Given the description of an element on the screen output the (x, y) to click on. 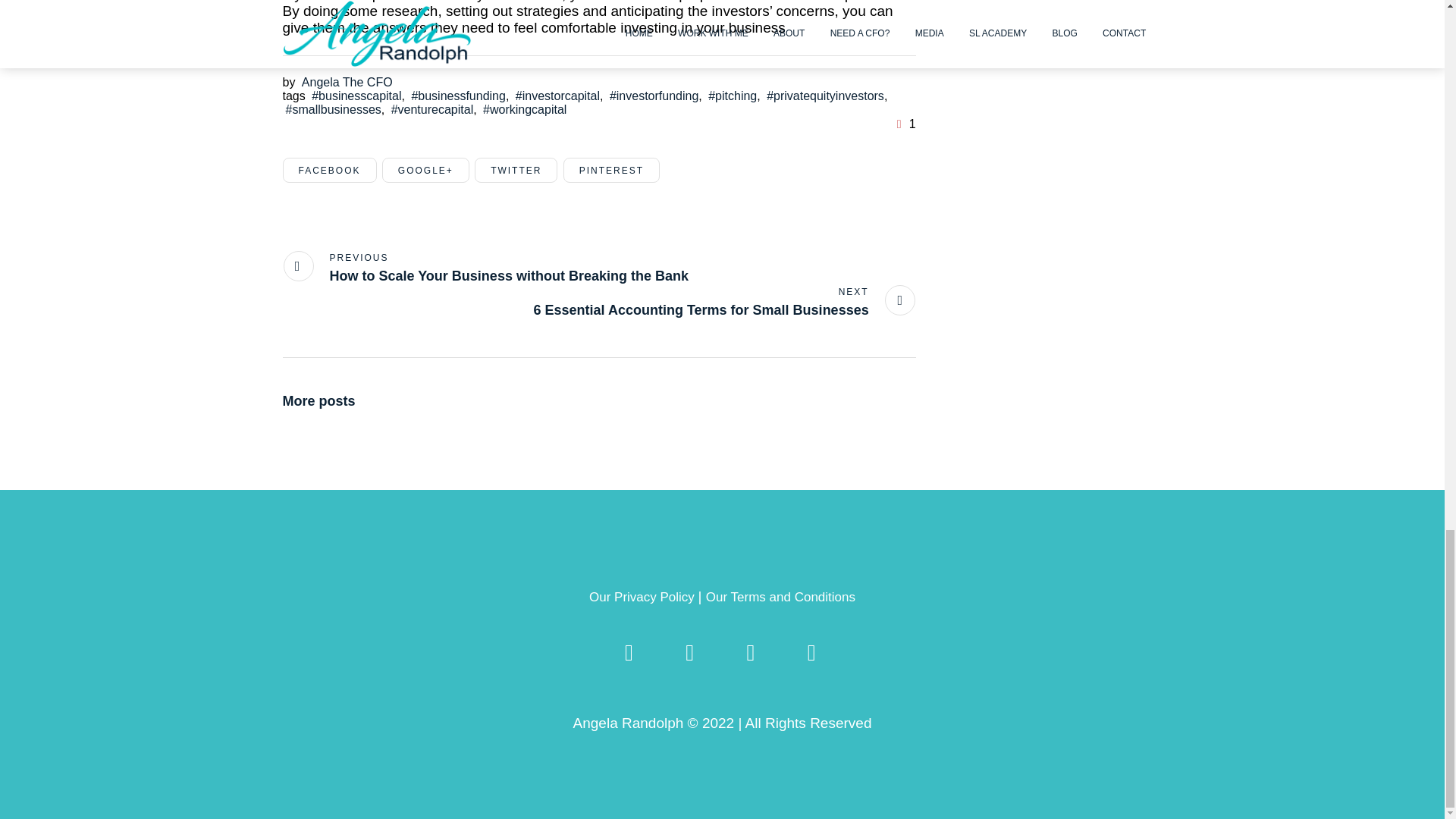
1 (903, 123)
How to Scale Your Business without Breaking the Bank (484, 267)
Angela The CFO (345, 82)
Posts by Angela The CFO (345, 82)
FACEBOOK (328, 170)
PINTEREST (611, 170)
6 Essential Accounting Terms for Small Businesses (724, 302)
TWITTER (515, 170)
